Given the description of an element on the screen output the (x, y) to click on. 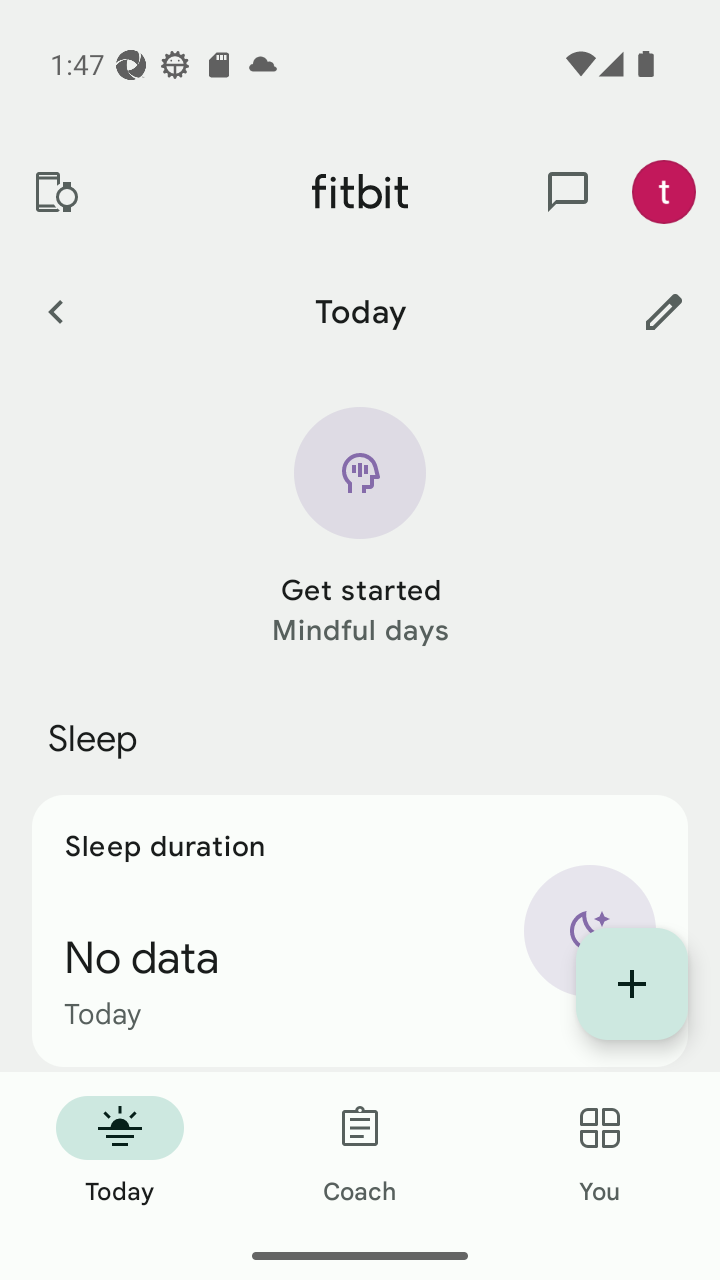
Devices and apps (55, 191)
messages and notifications (567, 191)
Previous Day (55, 311)
Customize (664, 311)
Mindfulness icon Get started Mindful days (360, 529)
Sleep duration No data Today Sleep static arc (359, 930)
Display list of quick log entries (632, 983)
Coach (359, 1151)
You (600, 1151)
